Given the description of an element on the screen output the (x, y) to click on. 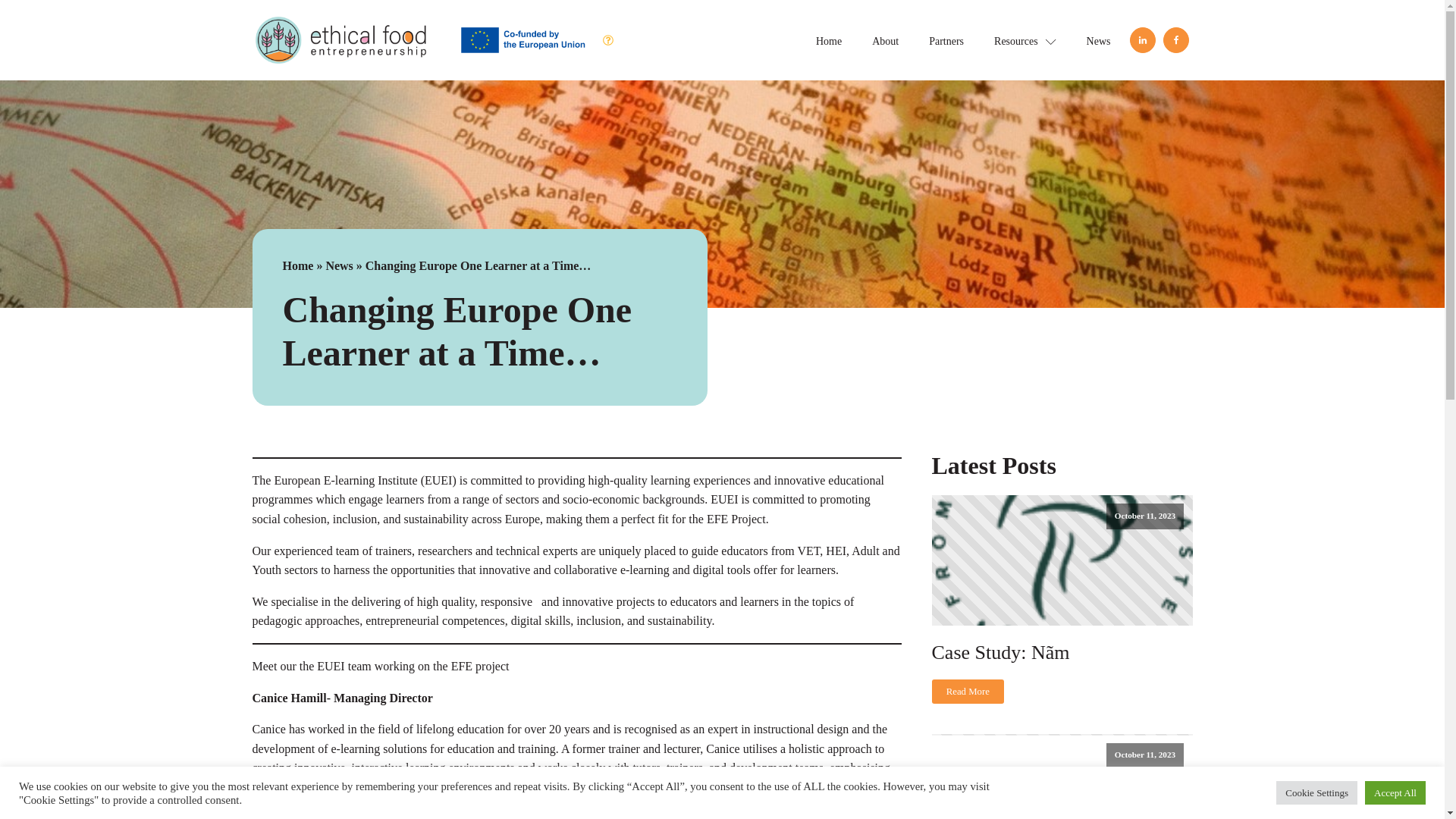
Read More (967, 691)
Resources (1024, 40)
News (338, 265)
October 11, 2023 (1061, 776)
News (1098, 40)
October 11, 2023 (1061, 560)
Home (297, 265)
Home (828, 40)
Partners (946, 40)
About (885, 40)
